Given the description of an element on the screen output the (x, y) to click on. 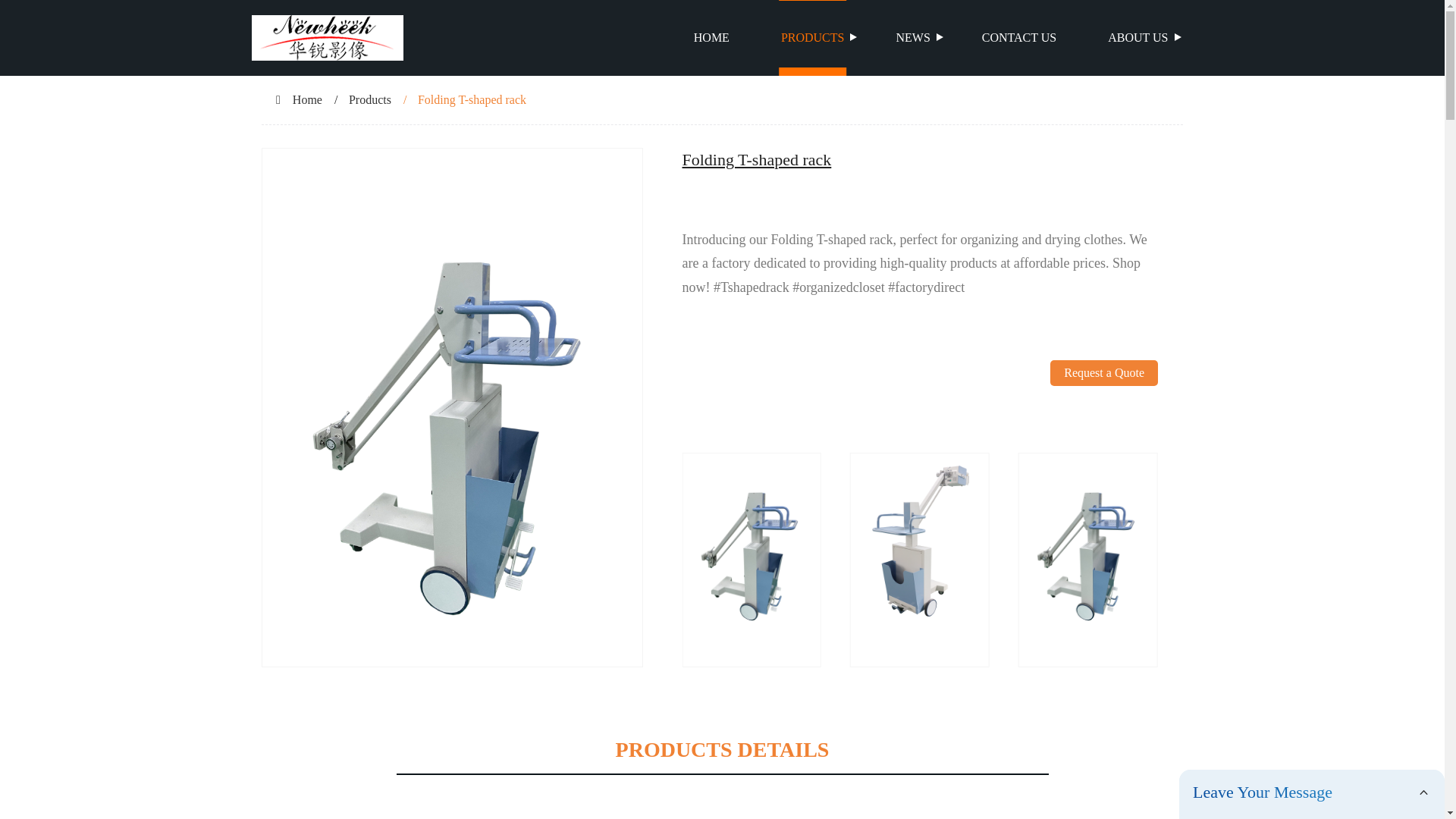
Products (370, 99)
PRODUCTS (812, 38)
Home (306, 99)
Request a Quote (1103, 406)
CONTACT US (1018, 38)
